Given the description of an element on the screen output the (x, y) to click on. 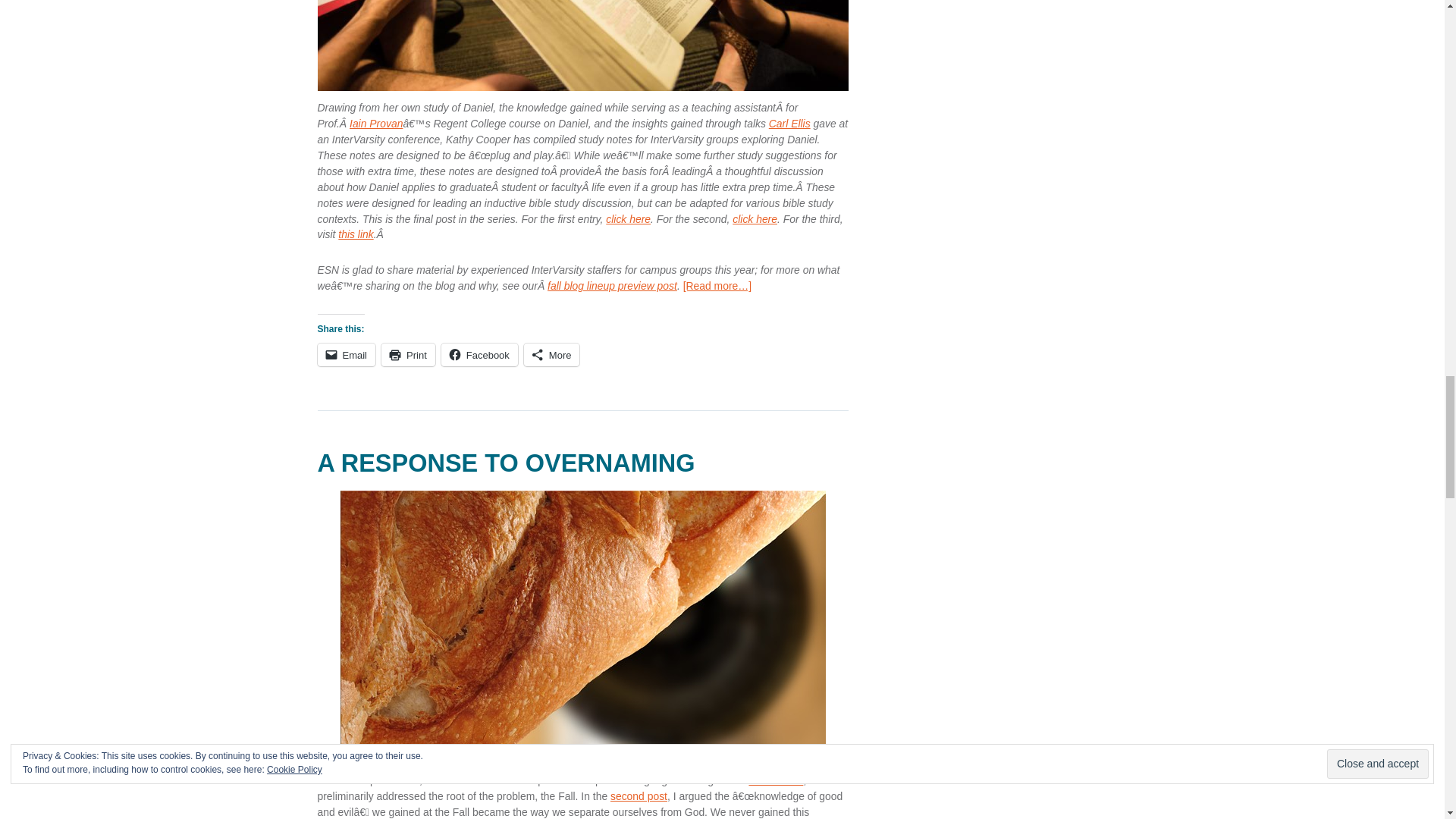
Iain Provan (376, 123)
Click to print (408, 354)
Click to share on Facebook (479, 354)
Click to email a link to a friend (346, 354)
